Given the description of an element on the screen output the (x, y) to click on. 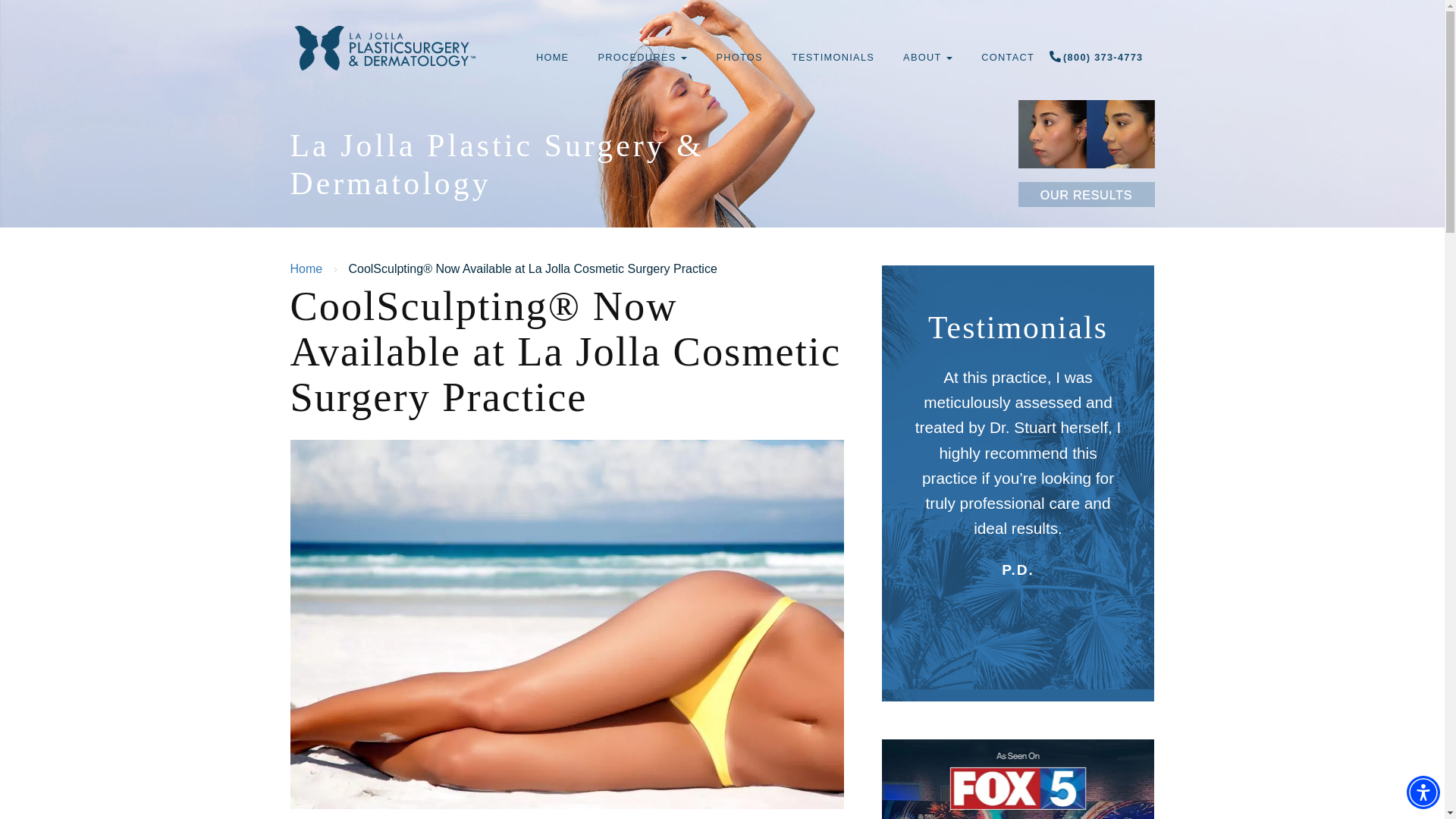
Accessibility Menu (1422, 792)
